Given the description of an element on the screen output the (x, y) to click on. 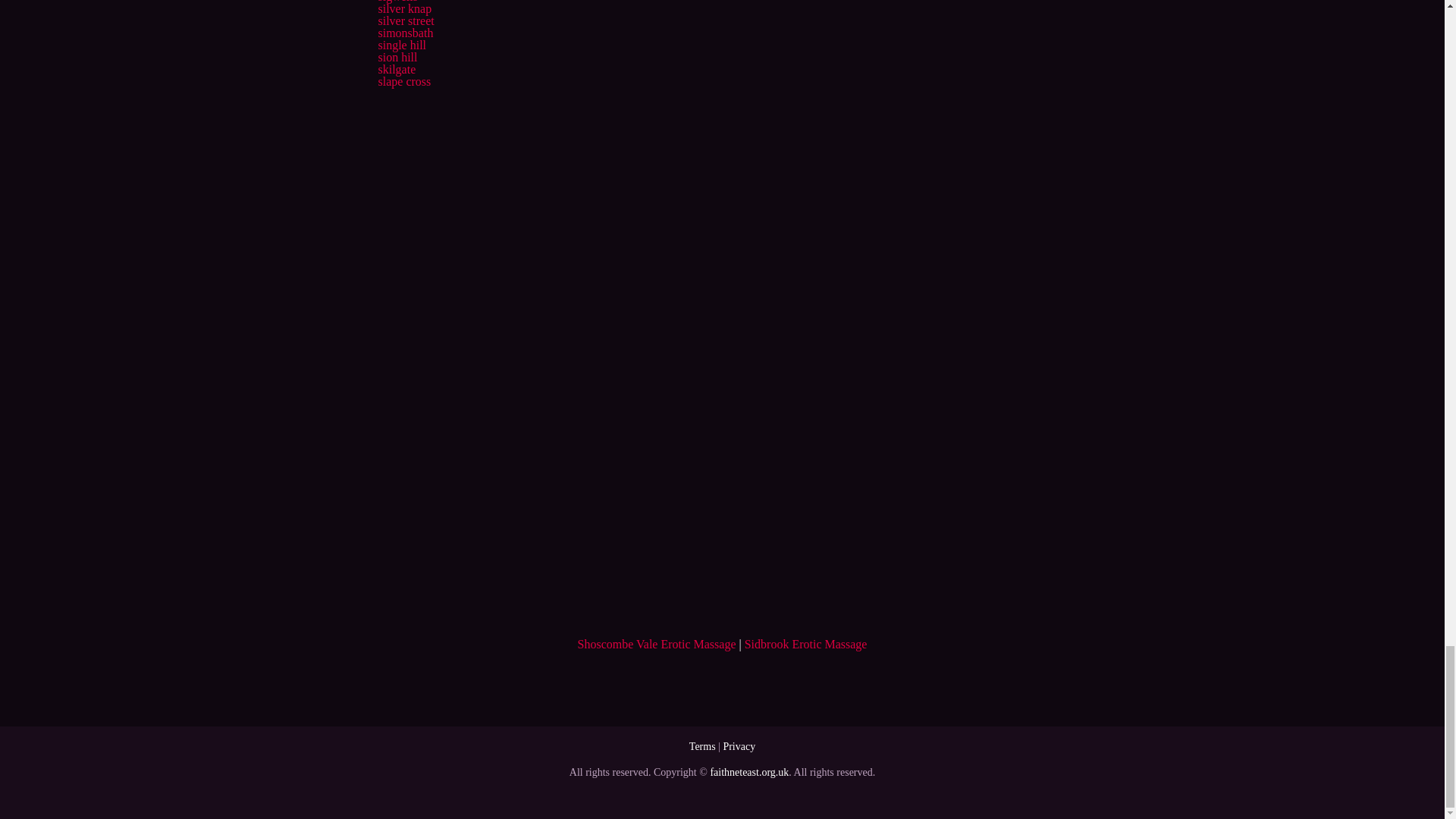
skilgate (395, 69)
silver street (405, 20)
Sidbrook Erotic Massage (805, 644)
faithneteast.org.uk (749, 772)
single hill (401, 44)
Privacy (738, 746)
Privacy (738, 746)
Shoscombe Vale Erotic Massage (657, 644)
simonsbath (404, 32)
Terms (702, 746)
